Given the description of an element on the screen output the (x, y) to click on. 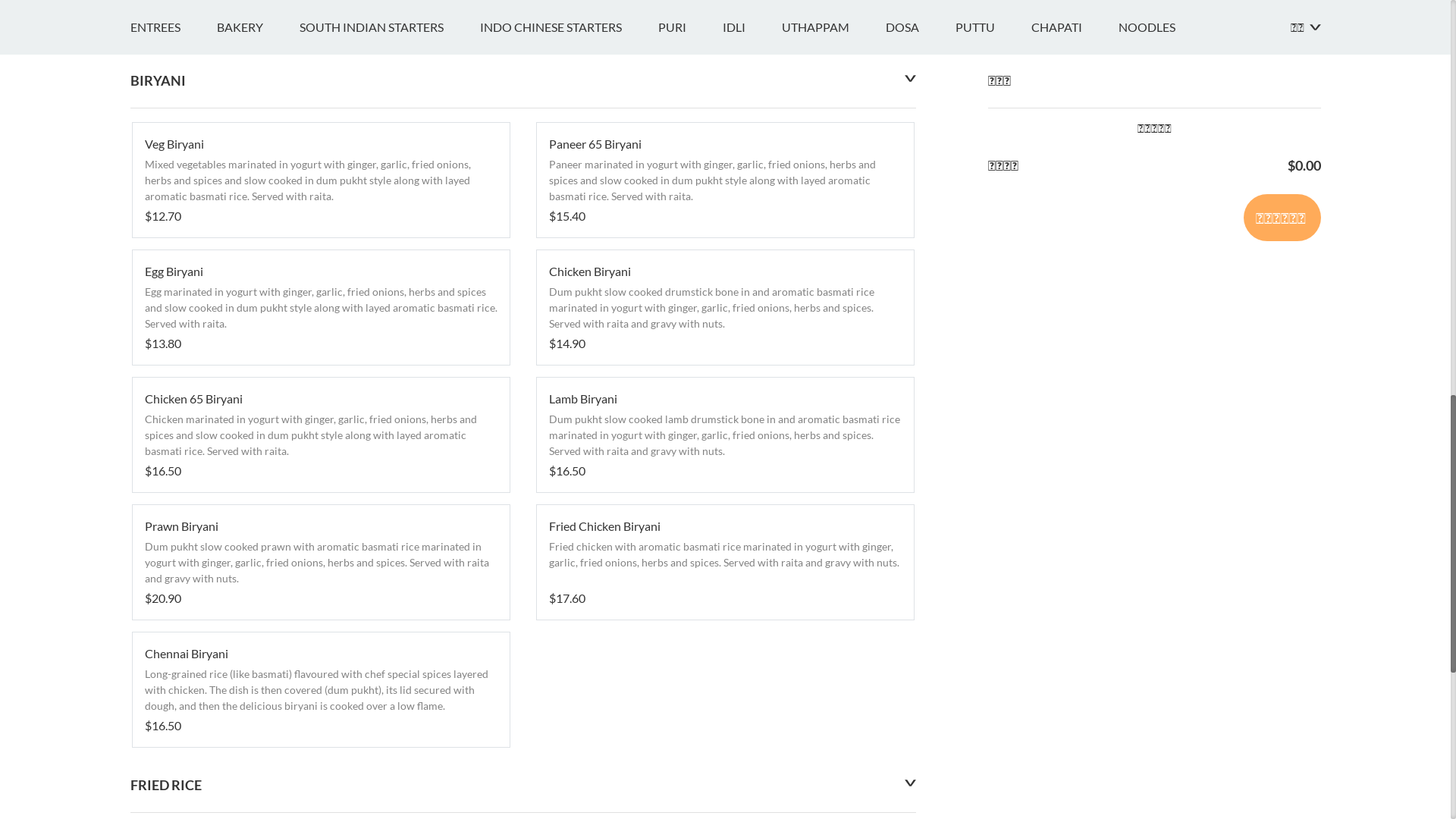
EN Element type: text (138, 16)
Mathy Food Corner Element type: text (247, 223)
4 Element type: text (141, 278)
